Given the description of an element on the screen output the (x, y) to click on. 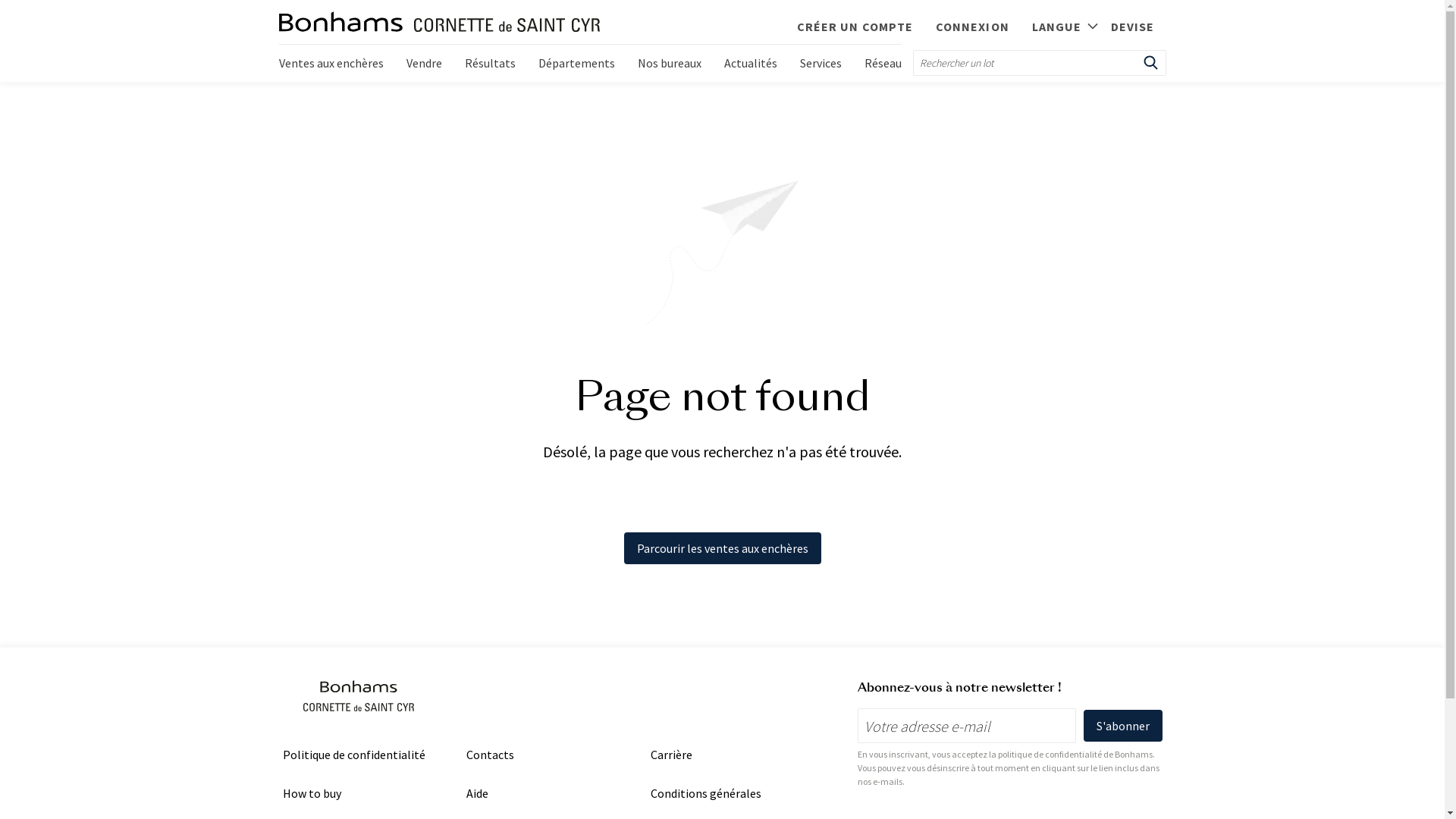
Nos bureaux Element type: text (669, 62)
Services Element type: text (820, 62)
S'abonner Element type: text (1121, 725)
LANGUE Element type: text (1059, 23)
Contacts Element type: text (490, 754)
CONNEXION Element type: text (972, 24)
Vendre Element type: text (423, 62)
Aide Element type: text (477, 792)
How to buy Element type: text (311, 792)
DEVISE Element type: text (1132, 24)
